Given the description of an element on the screen output the (x, y) to click on. 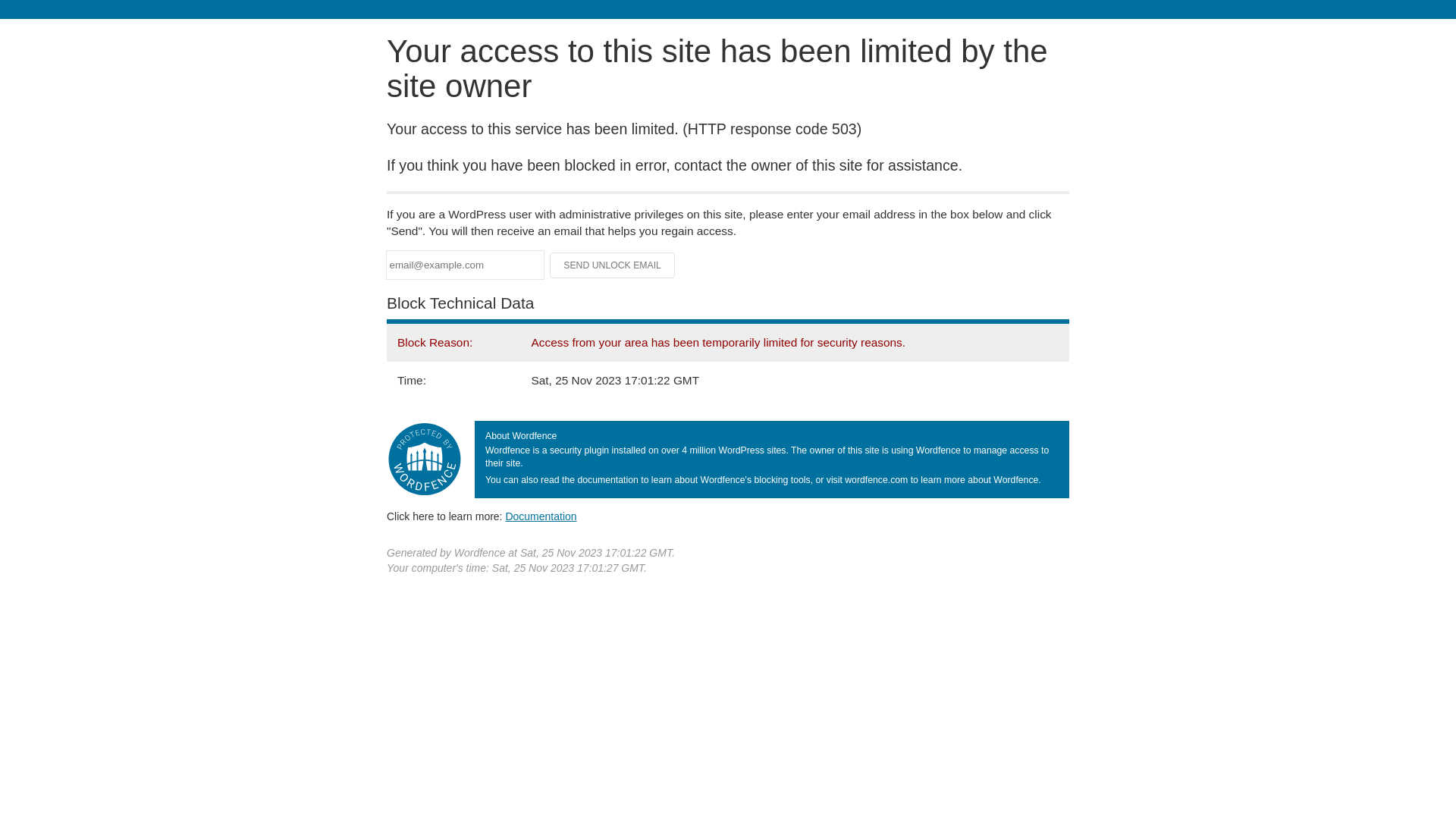
Send Unlock Email Element type: text (612, 265)
Documentation Element type: text (540, 516)
